Given the description of an element on the screen output the (x, y) to click on. 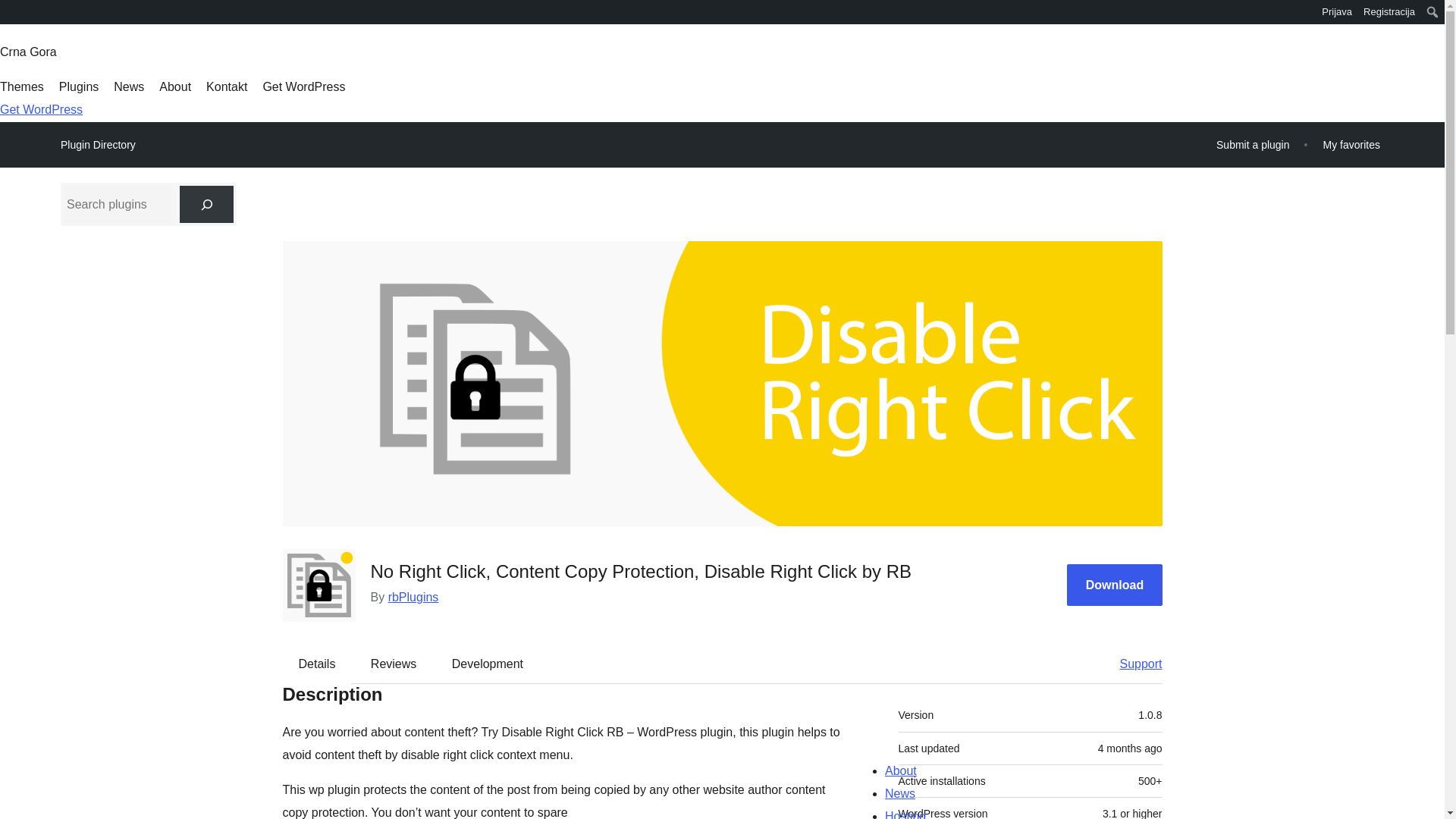
News (128, 87)
Reviews (392, 664)
Themes (21, 87)
WordPress.org (10, 16)
Submit a plugin (1253, 144)
Details (316, 664)
Get WordPress (303, 87)
Download (1114, 585)
Pretraga (20, 13)
About (174, 87)
